Given the description of an element on the screen output the (x, y) to click on. 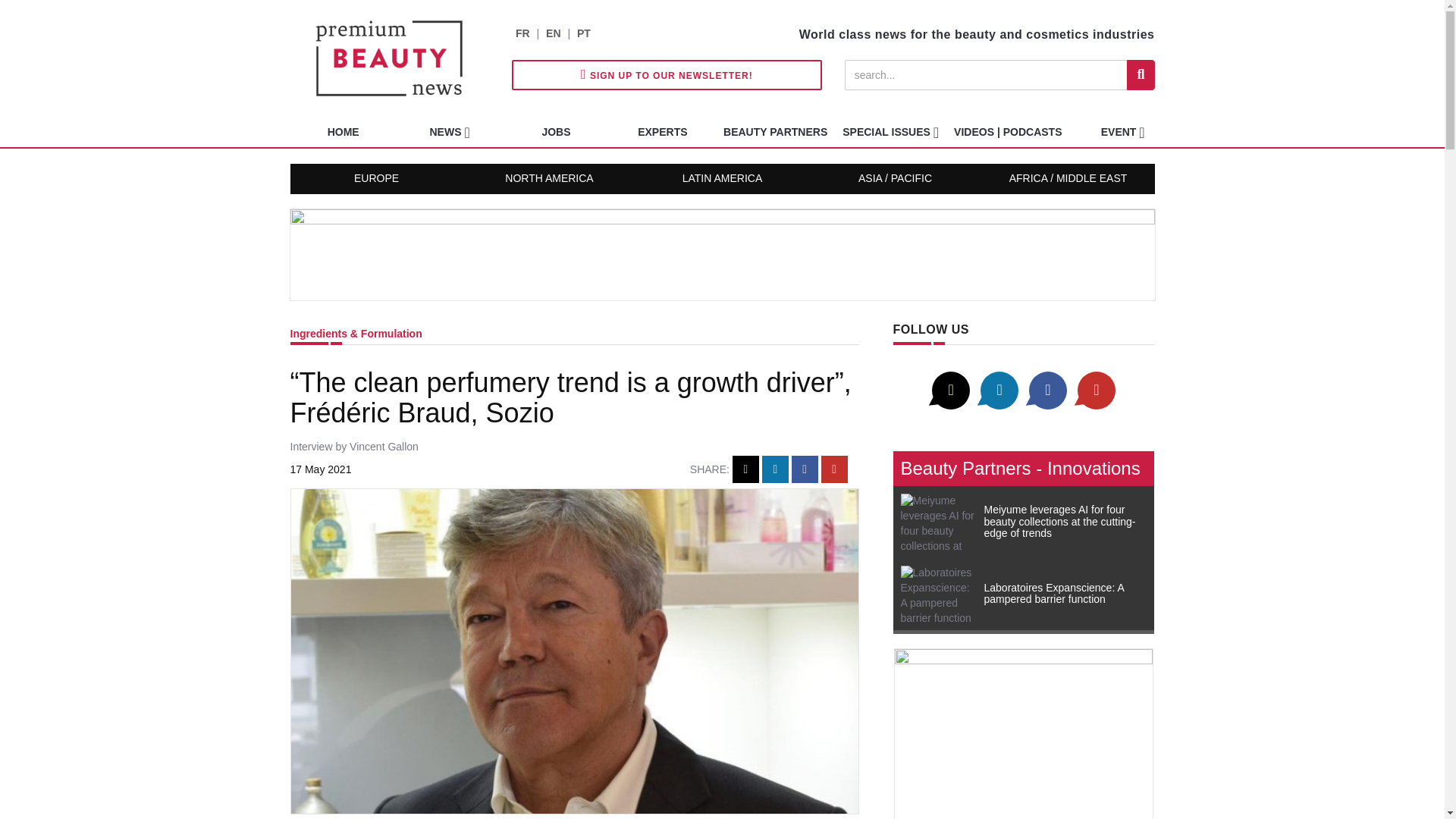
FR (522, 33)
EN (553, 33)
SIGN UP TO OUR NEWSLETTER! (667, 74)
NEWS (449, 132)
HOME (342, 132)
PT (583, 33)
